Given the description of an element on the screen output the (x, y) to click on. 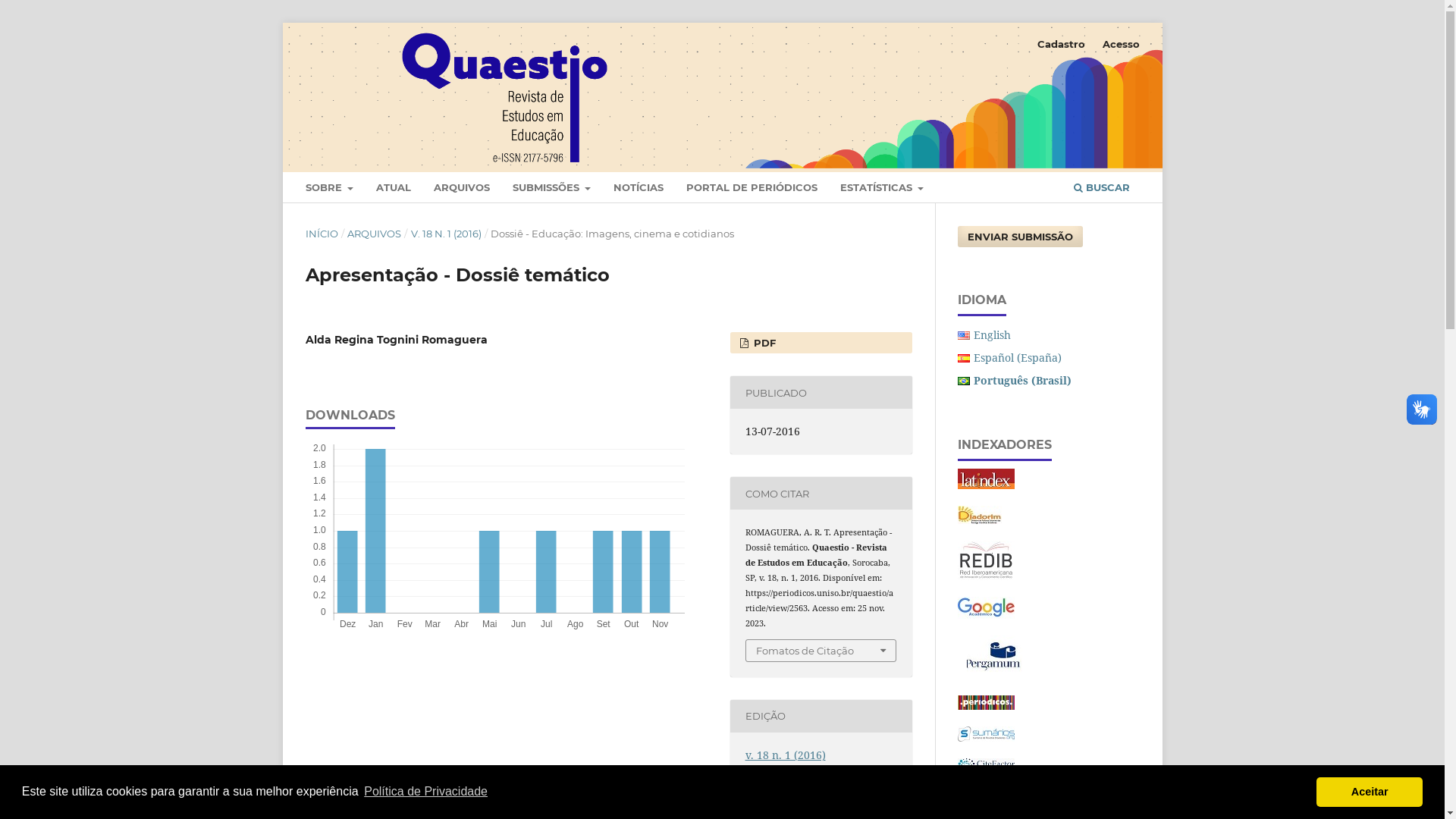
ARQUIVOS Element type: text (374, 233)
PDF Element type: text (820, 342)
Aceitar Element type: text (1369, 791)
ATUAL Element type: text (392, 188)
Cadastro Element type: text (1060, 43)
BUSCAR Element type: text (1101, 188)
SOBRE Element type: text (328, 188)
Acesso Element type: text (1121, 43)
ARQUIVOS Element type: text (461, 188)
  English Element type: text (991, 334)
V. 18 N. 1 (2016) Element type: text (446, 233)
v. 18 n. 1 (2016) Element type: text (785, 754)
